Given the description of an element on the screen output the (x, y) to click on. 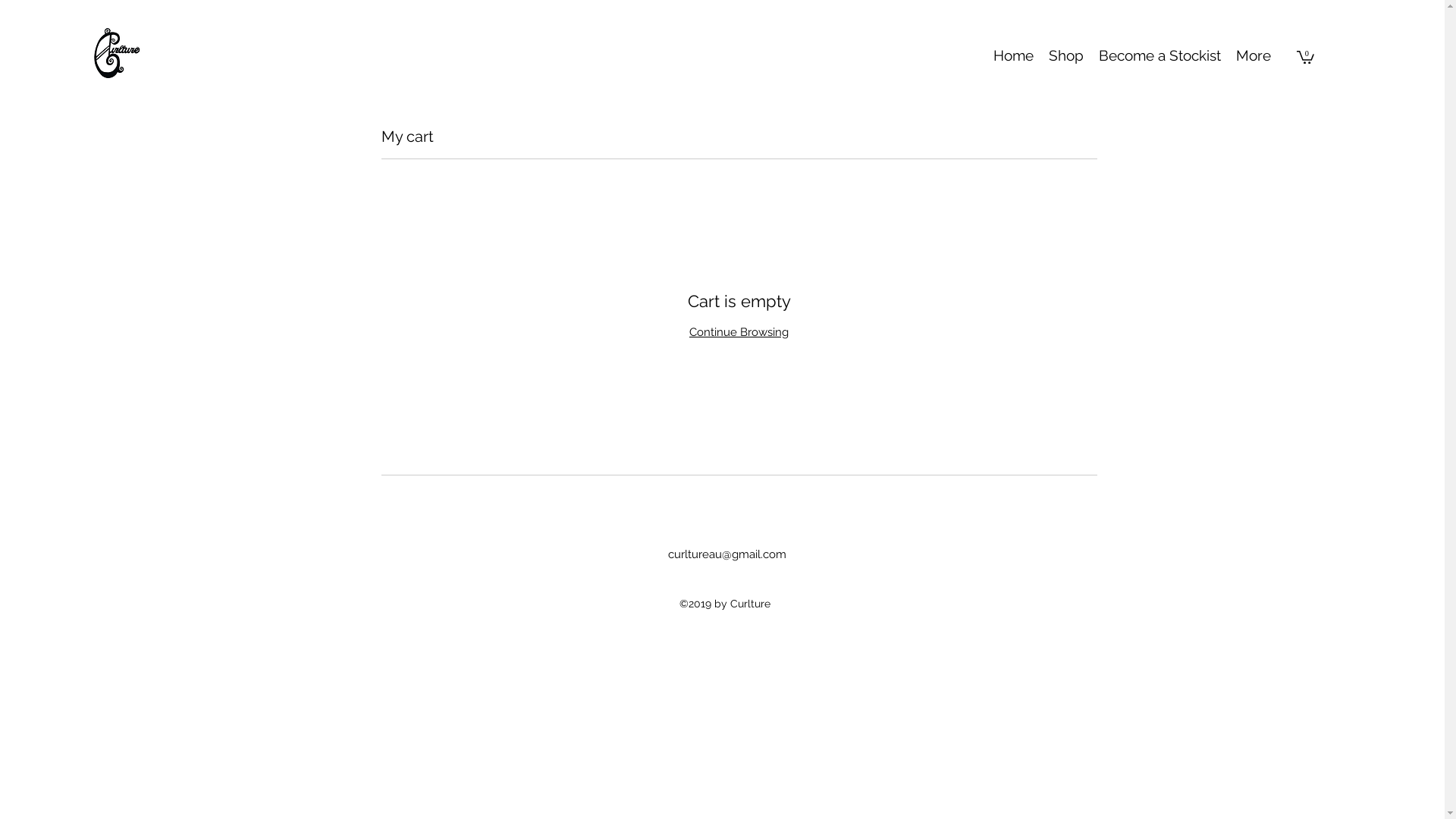
Home Element type: text (1013, 55)
Continue Browsing Element type: text (738, 331)
curltureau@gmail.com Element type: text (727, 553)
0 Element type: text (1305, 56)
Shop Element type: text (1066, 55)
Become a Stockist Element type: text (1159, 55)
